Given the description of an element on the screen output the (x, y) to click on. 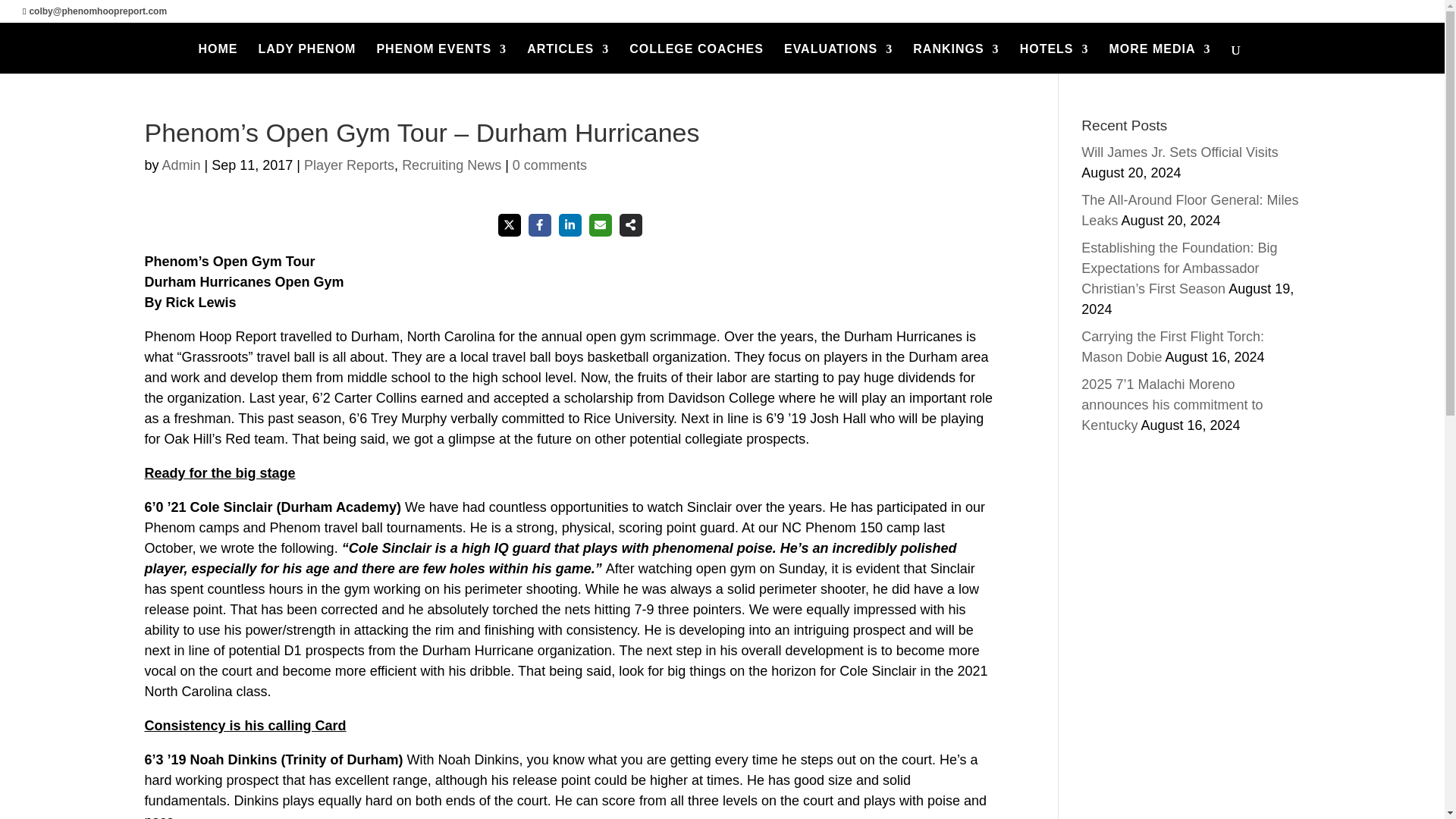
RANKINGS (955, 58)
Posts by Admin (180, 165)
HOME (217, 58)
EVALUATIONS (838, 58)
LADY PHENOM (306, 58)
PHENOM EVENTS (440, 58)
ARTICLES (567, 58)
COLLEGE COACHES (695, 58)
